Given the description of an element on the screen output the (x, y) to click on. 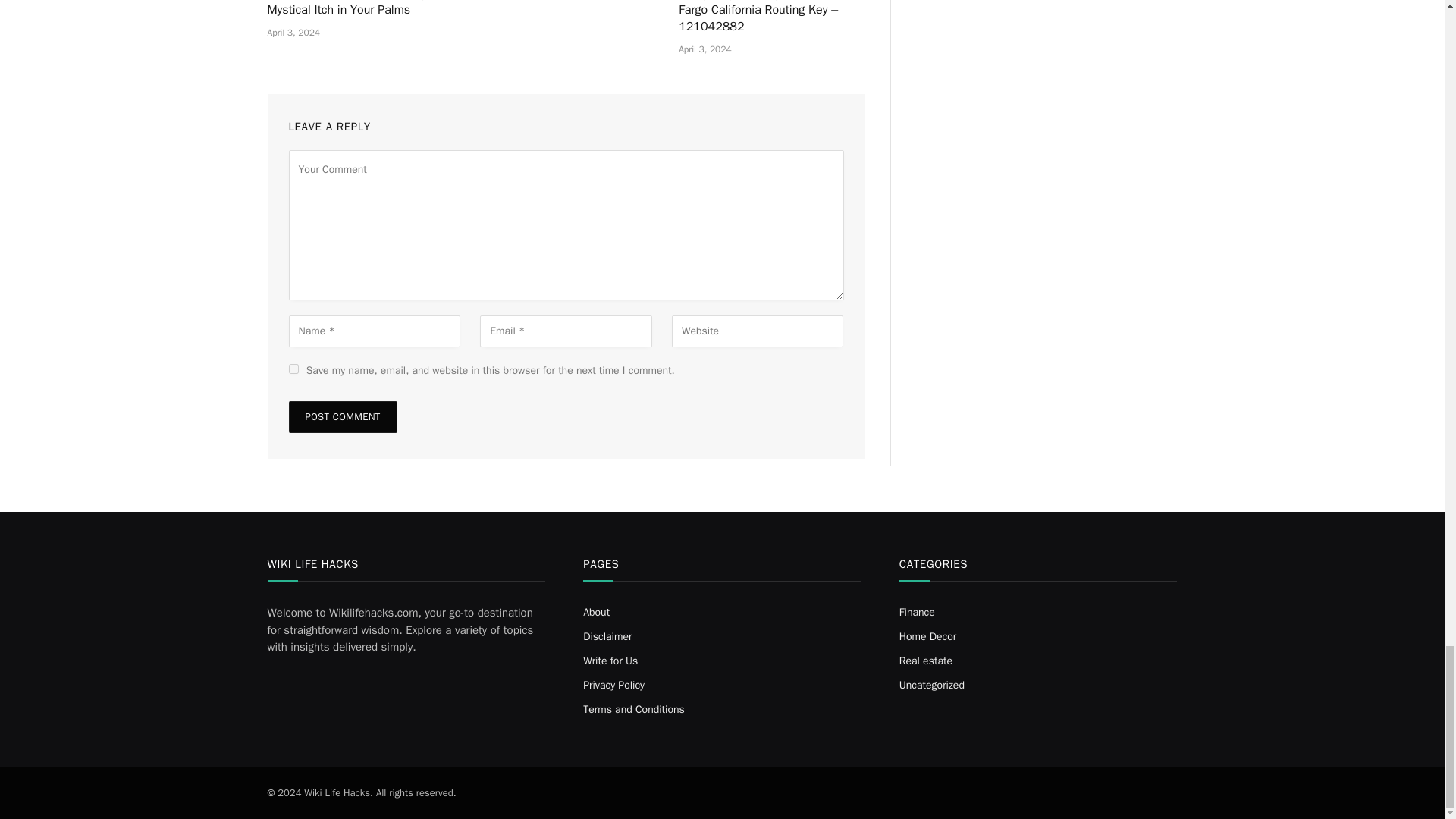
Post Comment (342, 417)
yes (293, 368)
Post Comment (342, 417)
Money Superstition: Decoding the Mystical Itch in Your Palms (359, 9)
